Given the description of an element on the screen output the (x, y) to click on. 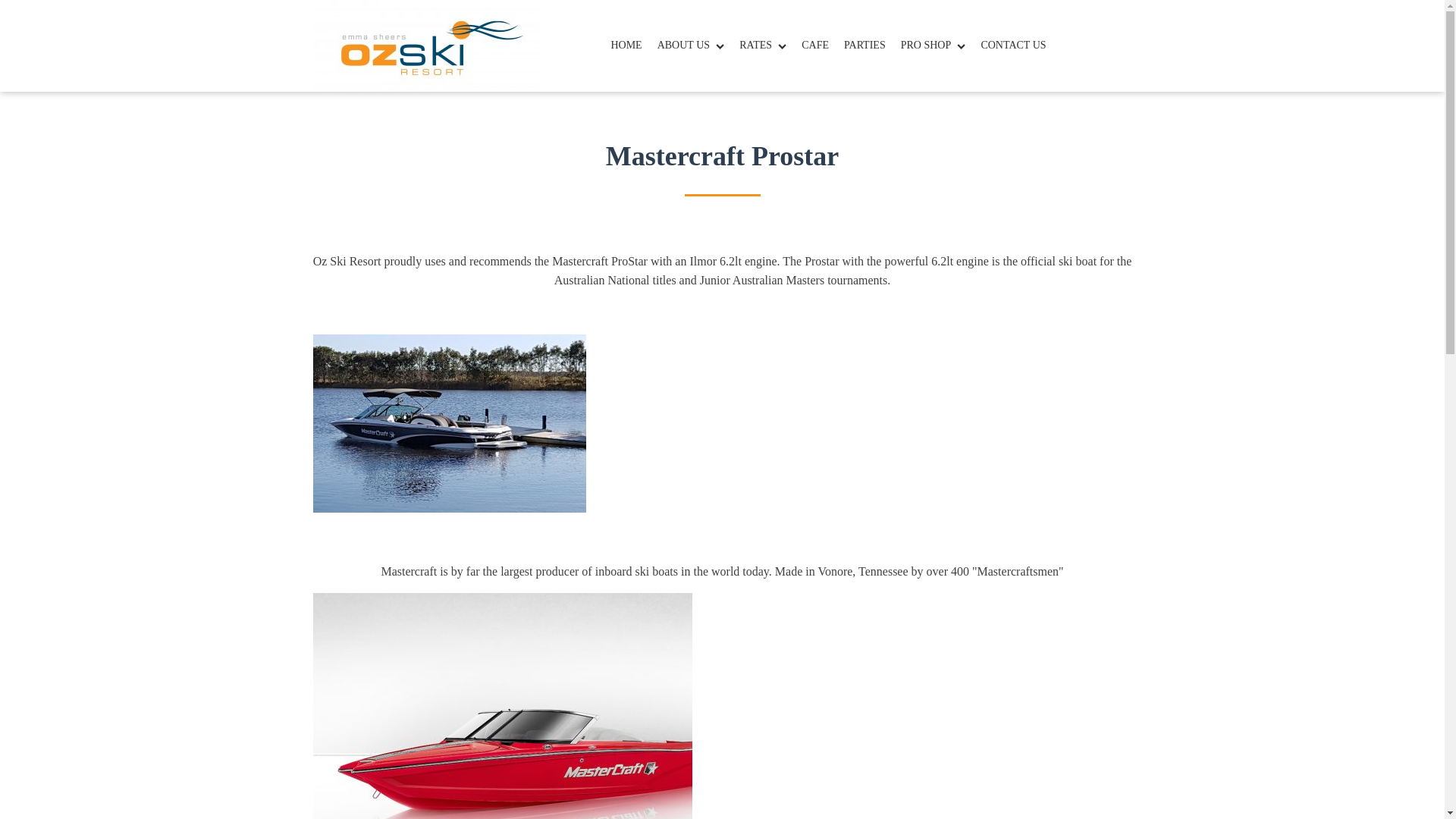
RATES (770, 45)
PRO SHOP (941, 45)
CONTACT US (1020, 45)
PARTIES (872, 45)
CAFE (823, 45)
HOME (633, 45)
ABOUT US (698, 45)
